Given the description of an element on the screen output the (x, y) to click on. 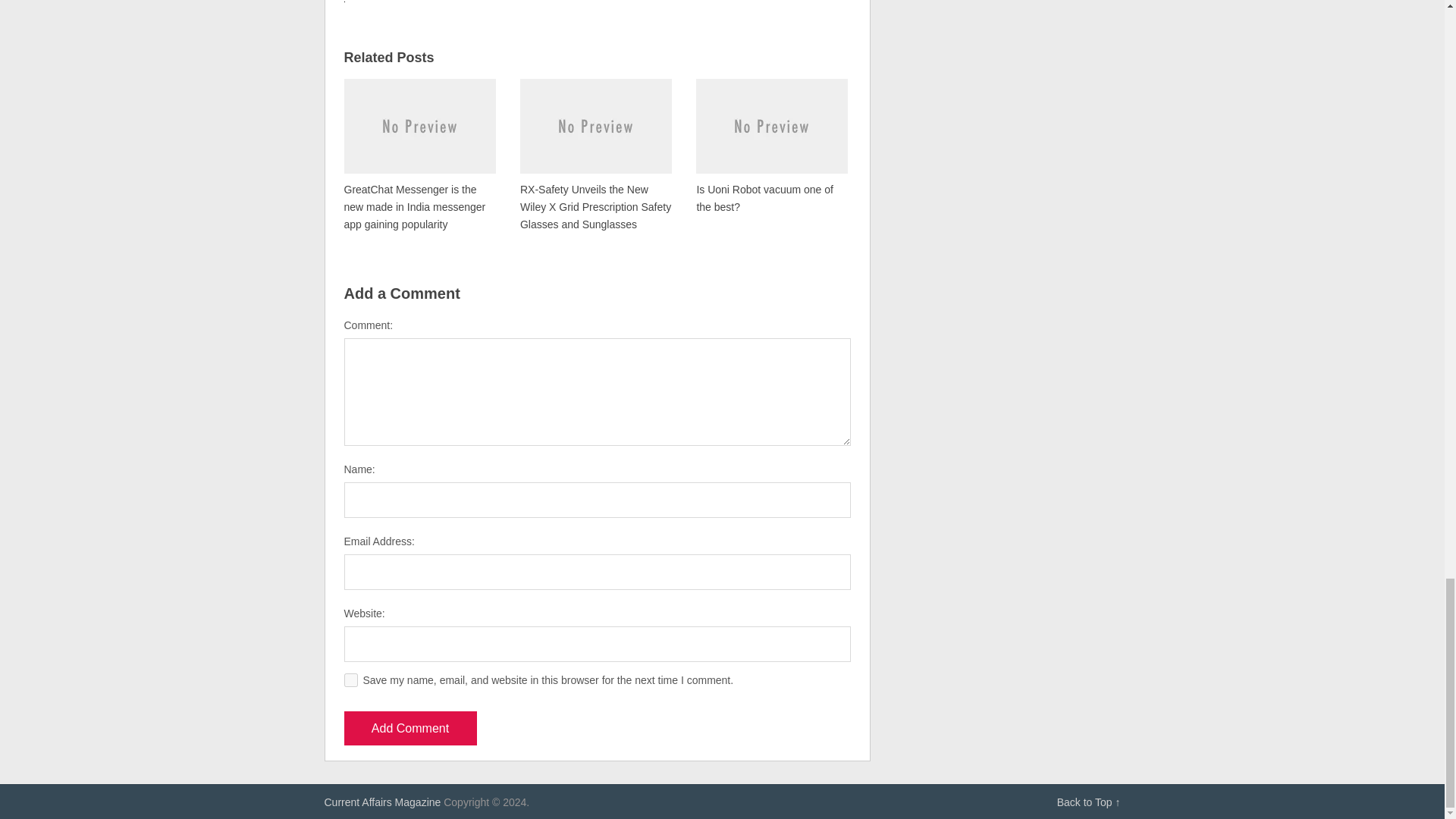
Is Uoni Robot vacuum one of the best? (771, 145)
Add Comment (410, 728)
yes (350, 680)
Add Comment (410, 728)
Is Uoni Robot vacuum one of the best? (771, 145)
